Given the description of an element on the screen output the (x, y) to click on. 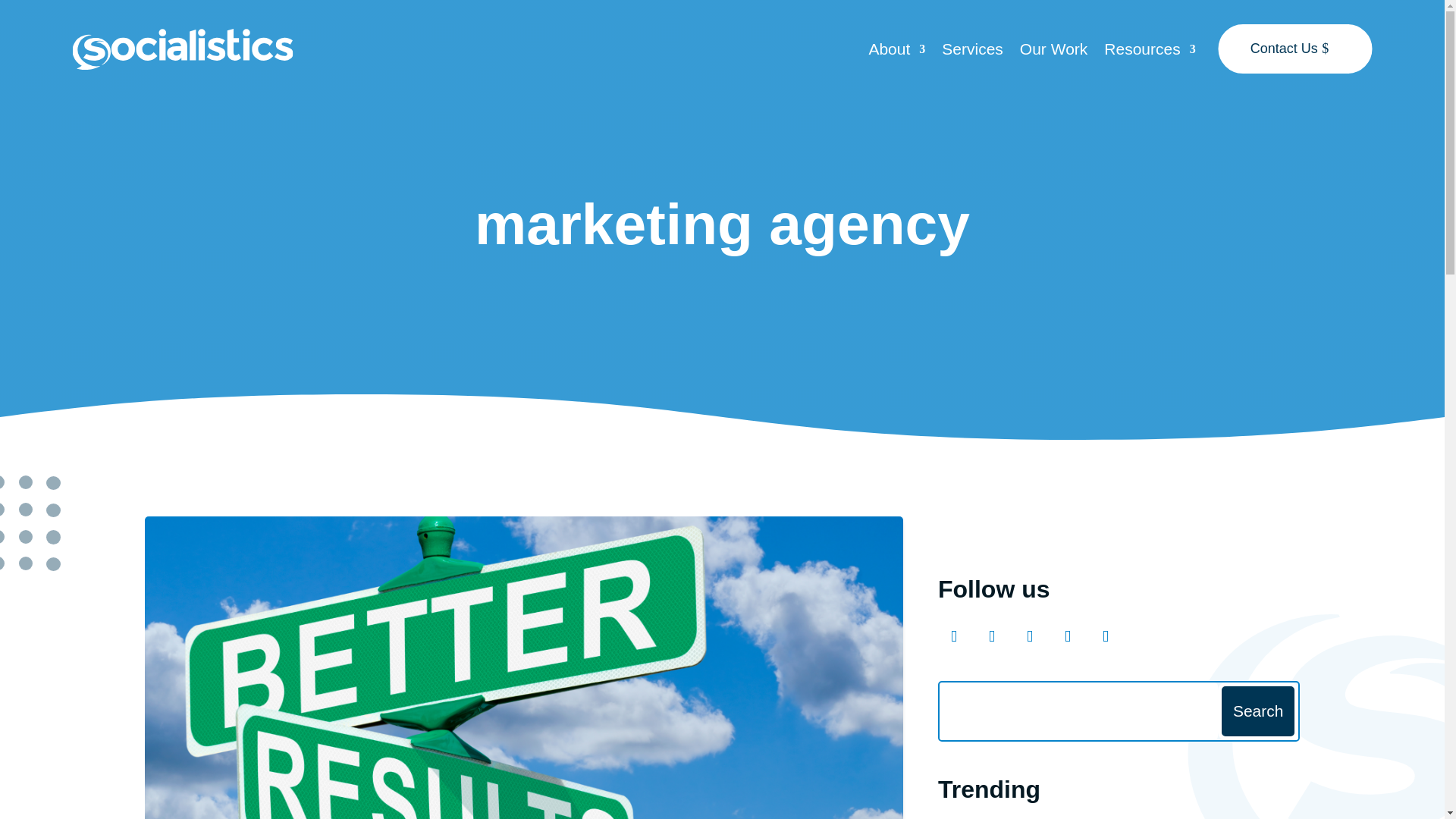
Our Work (1053, 52)
Resources (1149, 52)
socialistics-logo-d (181, 48)
Search (1257, 711)
Follow on LinkedIn (1105, 635)
About (895, 52)
Search (1257, 711)
Follow on Instagram (991, 635)
Services (972, 52)
Follow on Youtube (1067, 635)
Search (1257, 711)
Follow on Facebook (953, 635)
Contact Us (1295, 48)
Follow on X (1029, 635)
